Given the description of an element on the screen output the (x, y) to click on. 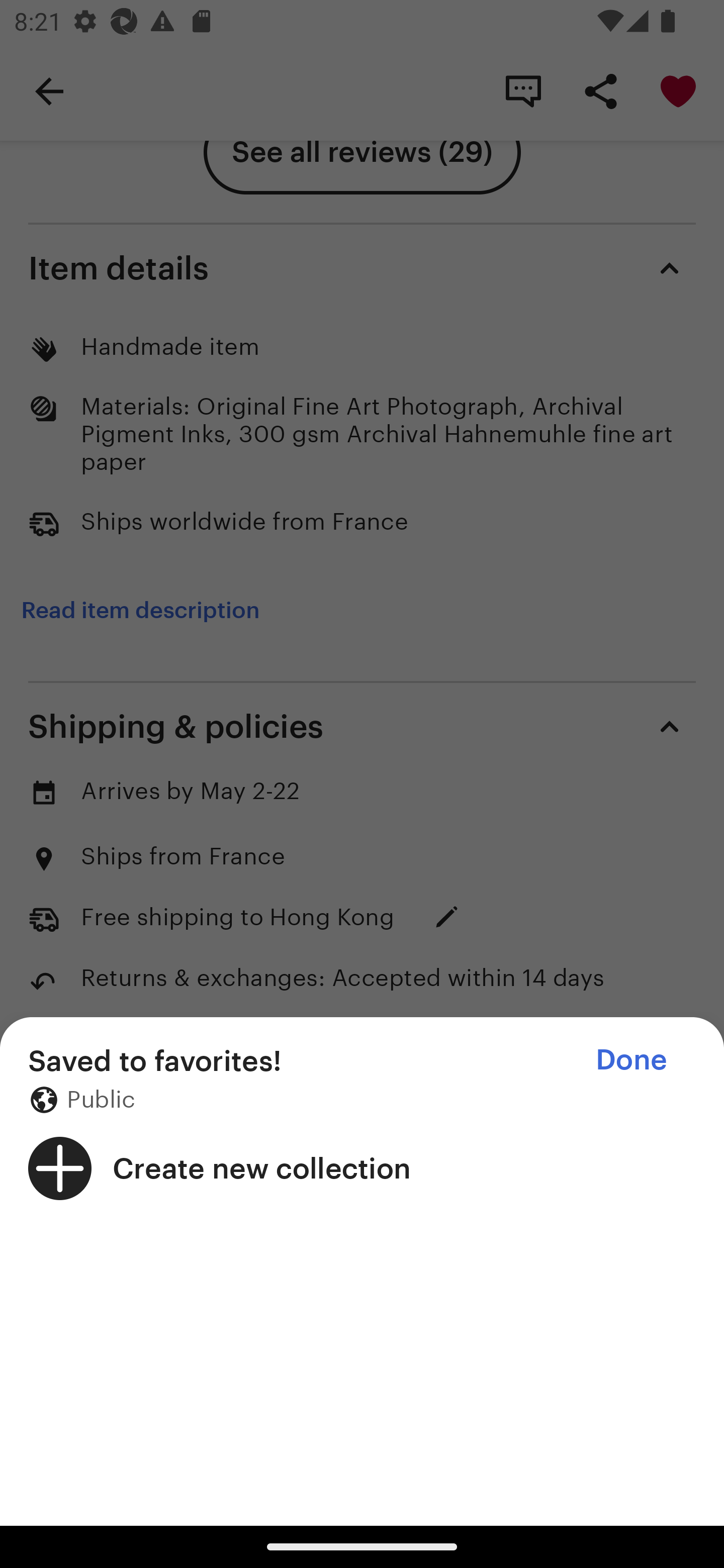
Done (630, 1059)
Create new collection (361, 1167)
